Given the description of an element on the screen output the (x, y) to click on. 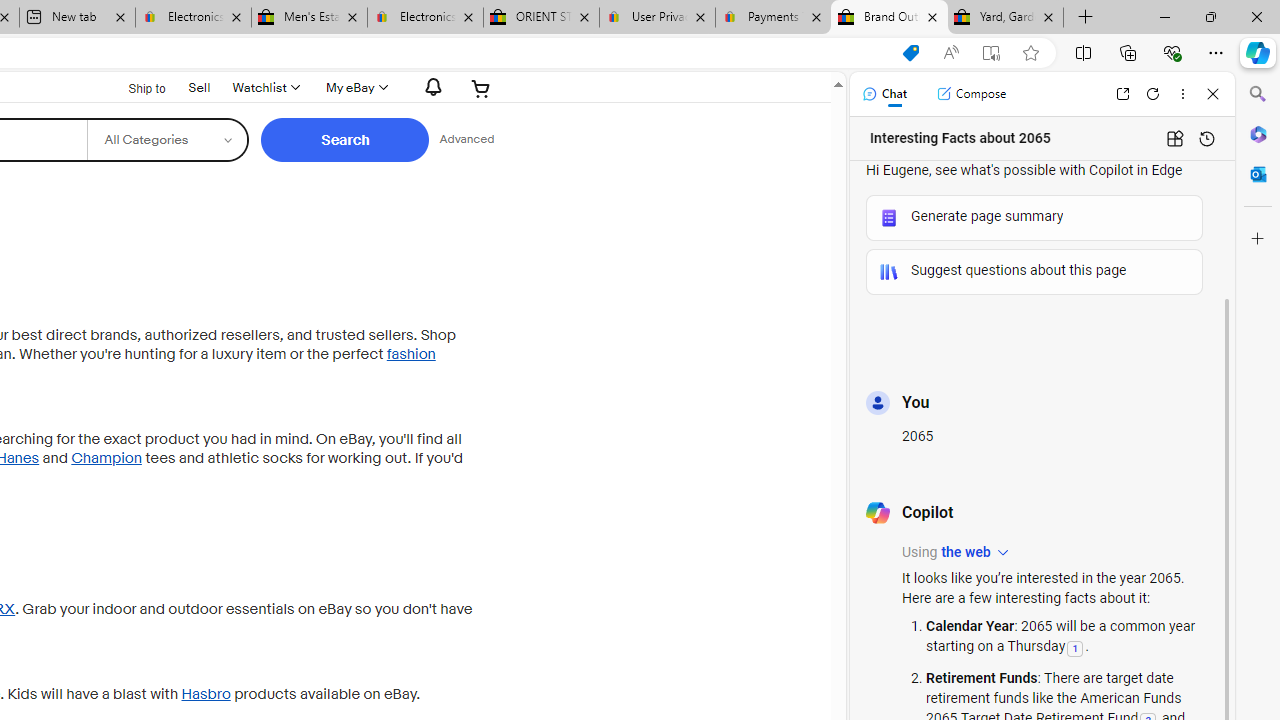
Select a category for search (167, 139)
